Given the description of an element on the screen output the (x, y) to click on. 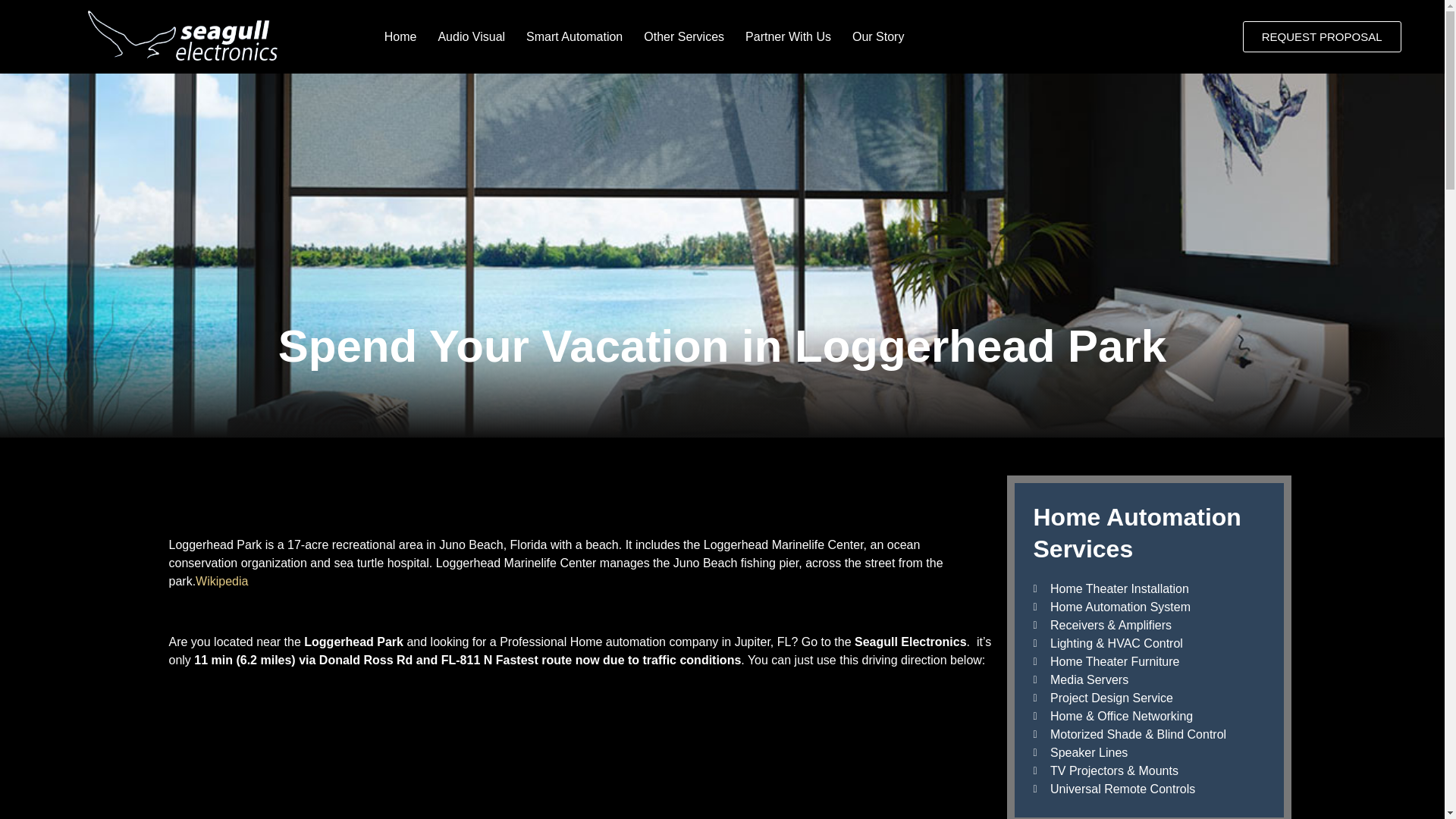
Other Services (684, 36)
Audio Visual (470, 36)
Home Theater Installation (1147, 588)
Home Automation System (1147, 607)
Home Theater Furniture (1147, 661)
Home (401, 36)
Partner With Us (788, 36)
REQUEST PROPOSAL (1321, 36)
Our Story (877, 36)
Speaker Lines (1147, 752)
